Given the description of an element on the screen output the (x, y) to click on. 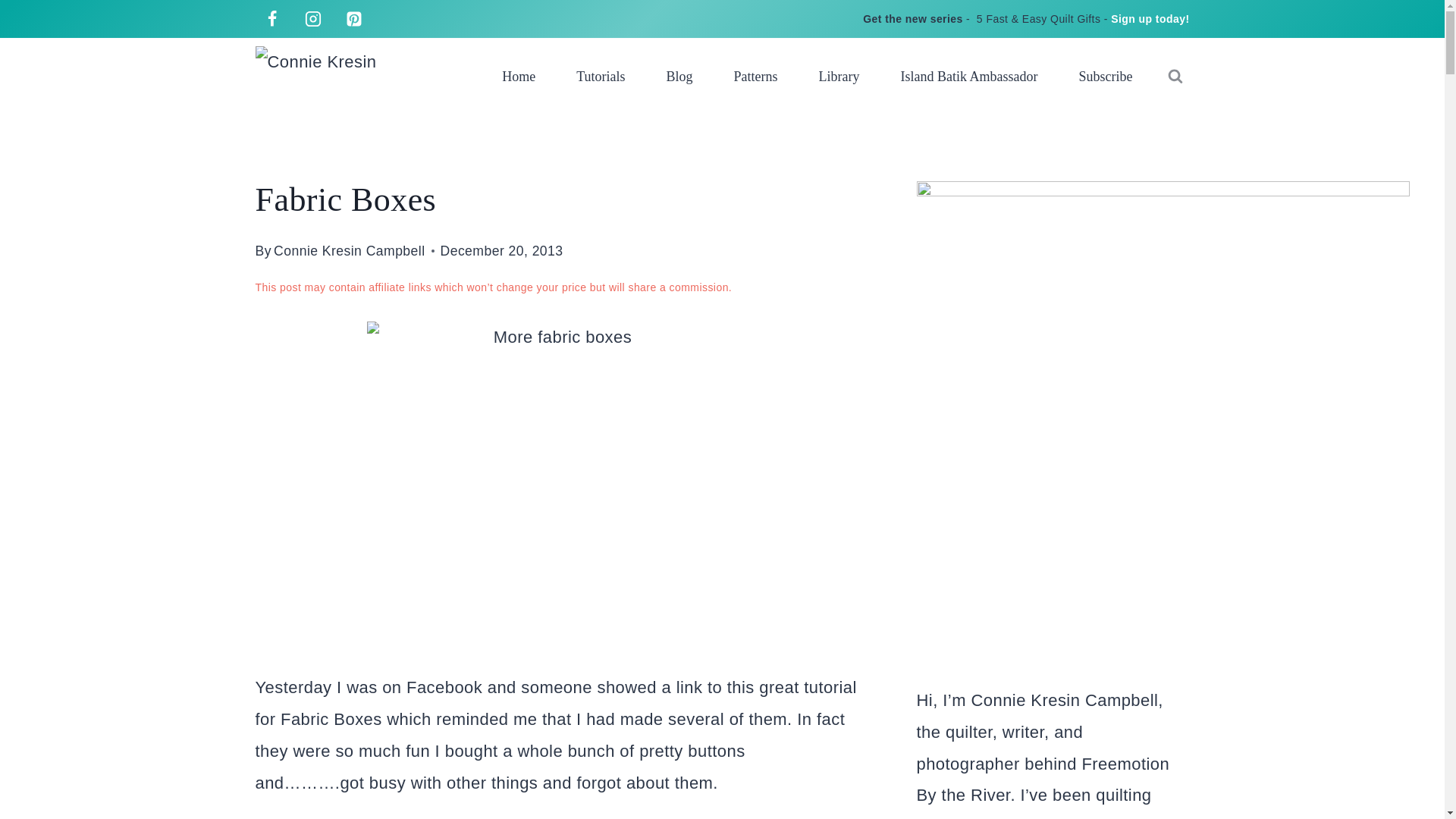
Blog (679, 76)
Sign up today! (1149, 19)
Patterns (755, 76)
Home (518, 76)
Tutorials (600, 76)
Island Batik Ambassador (969, 76)
Connie Kresin Campbell (349, 250)
Subscribe (1105, 76)
Library (838, 76)
